Given the description of an element on the screen output the (x, y) to click on. 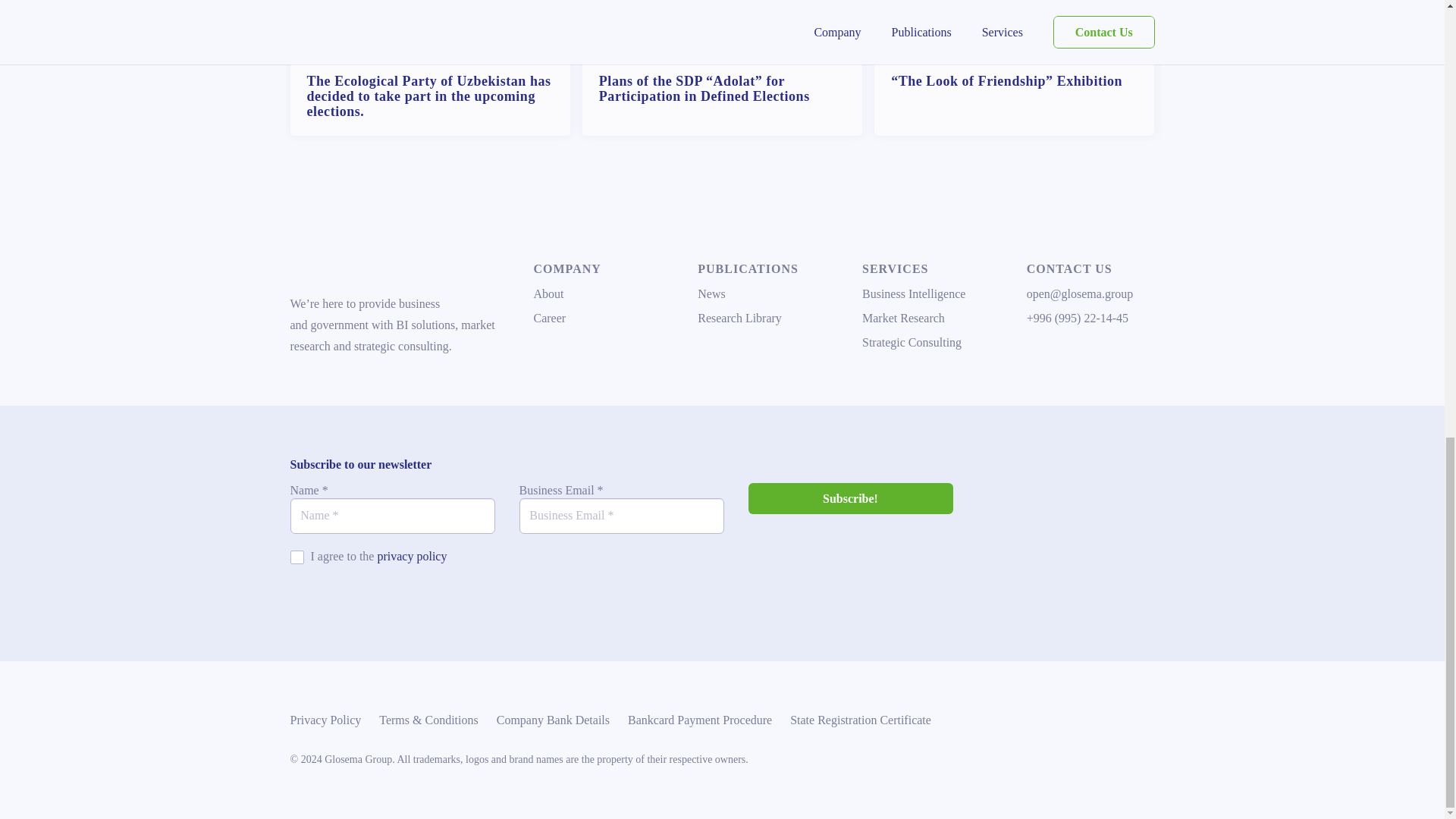
Name (392, 515)
UZA News (1082, 53)
1 (295, 557)
Business Email (620, 515)
UZA News (498, 53)
UZA News (790, 53)
